Given the description of an element on the screen output the (x, y) to click on. 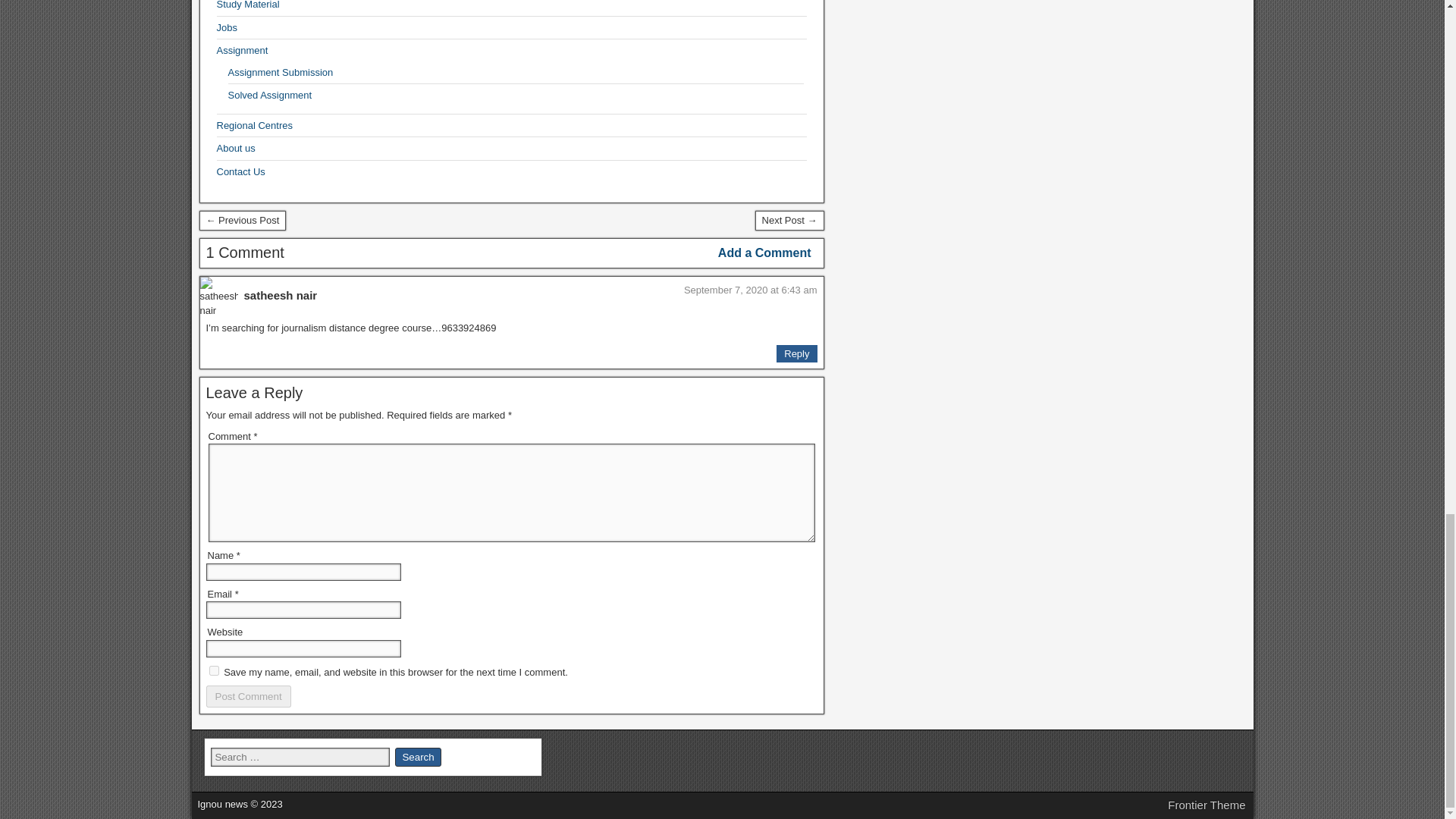
Search (417, 756)
Post Comment (248, 696)
Search (417, 756)
yes (214, 670)
